Given the description of an element on the screen output the (x, y) to click on. 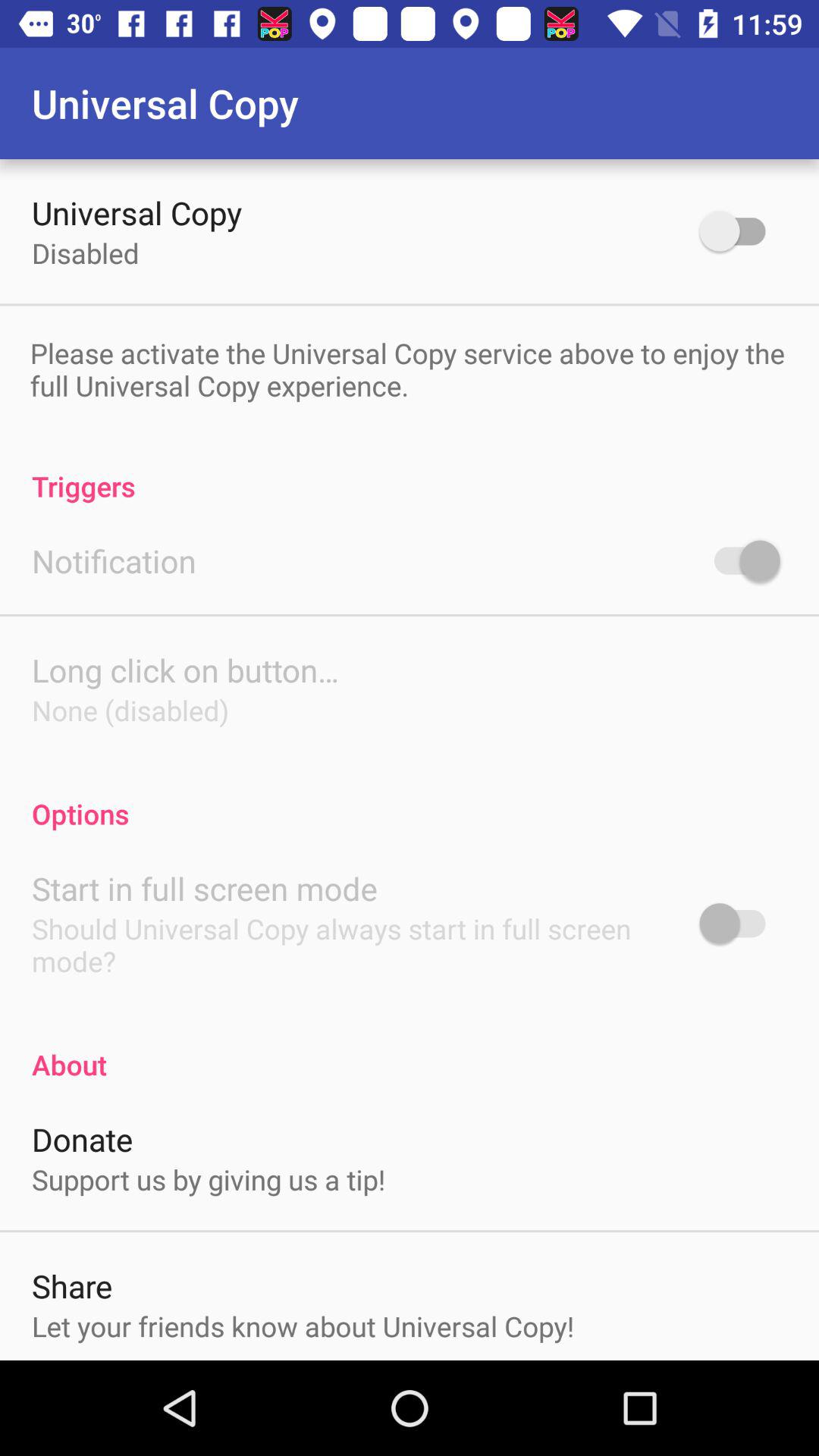
choose the icon below notification item (184, 669)
